Given the description of an element on the screen output the (x, y) to click on. 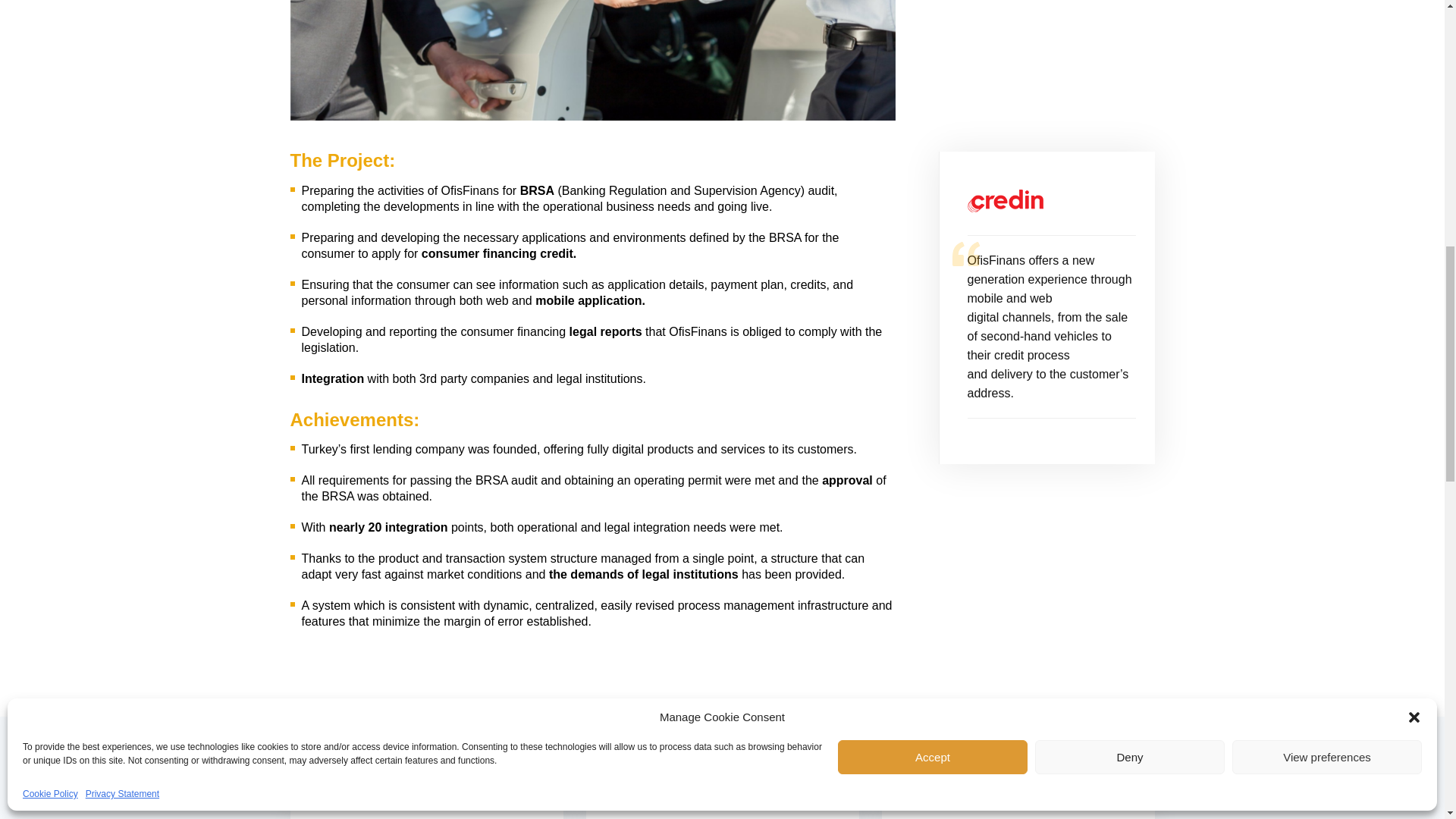
View preferences (1326, 347)
Deny (1129, 347)
Cookie Policy (50, 385)
Privacy Statement (121, 385)
Accept (932, 347)
